Given the description of an element on the screen output the (x, y) to click on. 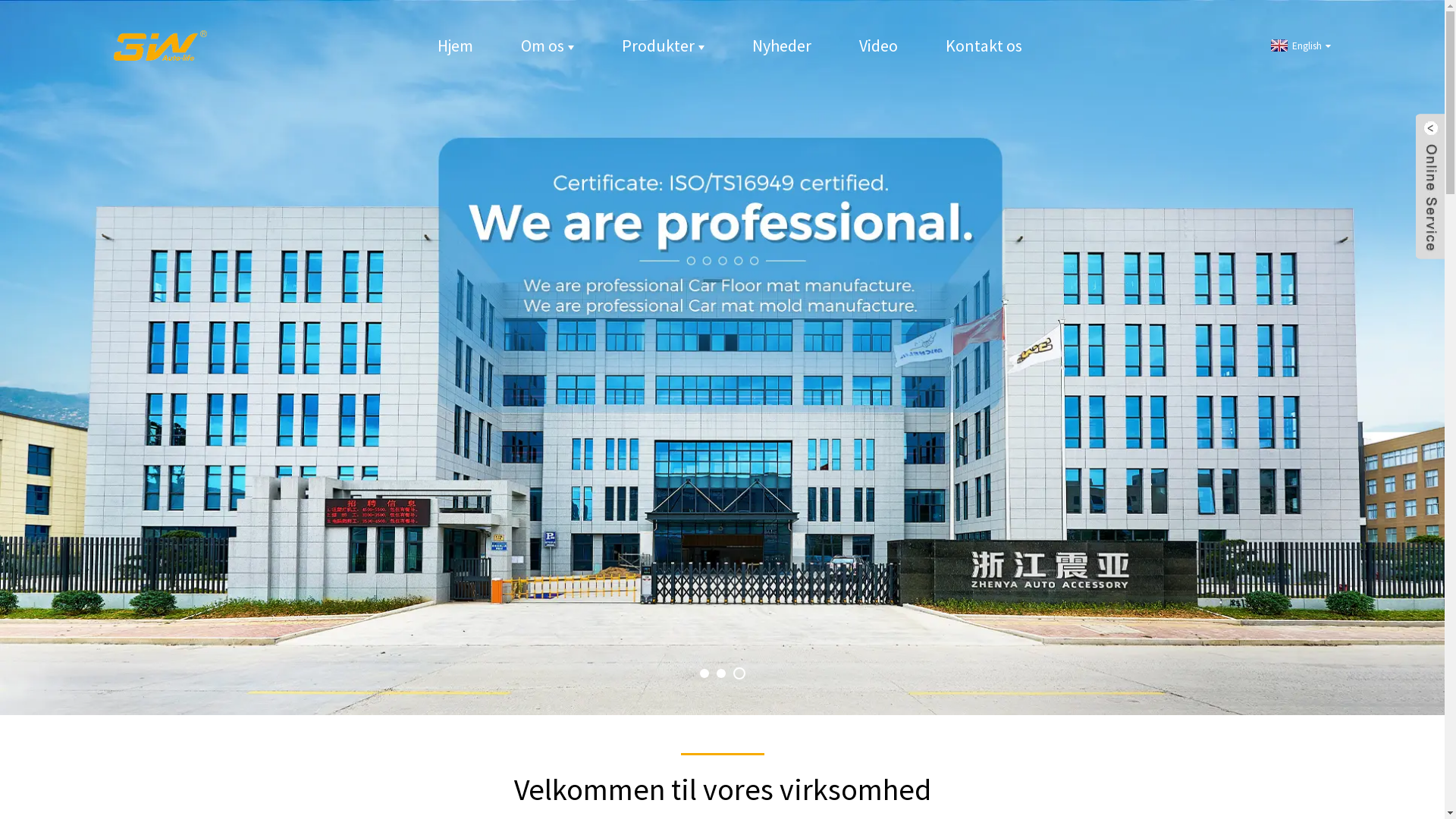
Kontakt os Element type: text (983, 45)
English Element type: text (1298, 45)
Video Element type: text (878, 45)
Hjem Element type: text (455, 45)
Om os Element type: text (547, 45)
Nyheder Element type: text (781, 45)
Produkter Element type: text (662, 45)
